Given the description of an element on the screen output the (x, y) to click on. 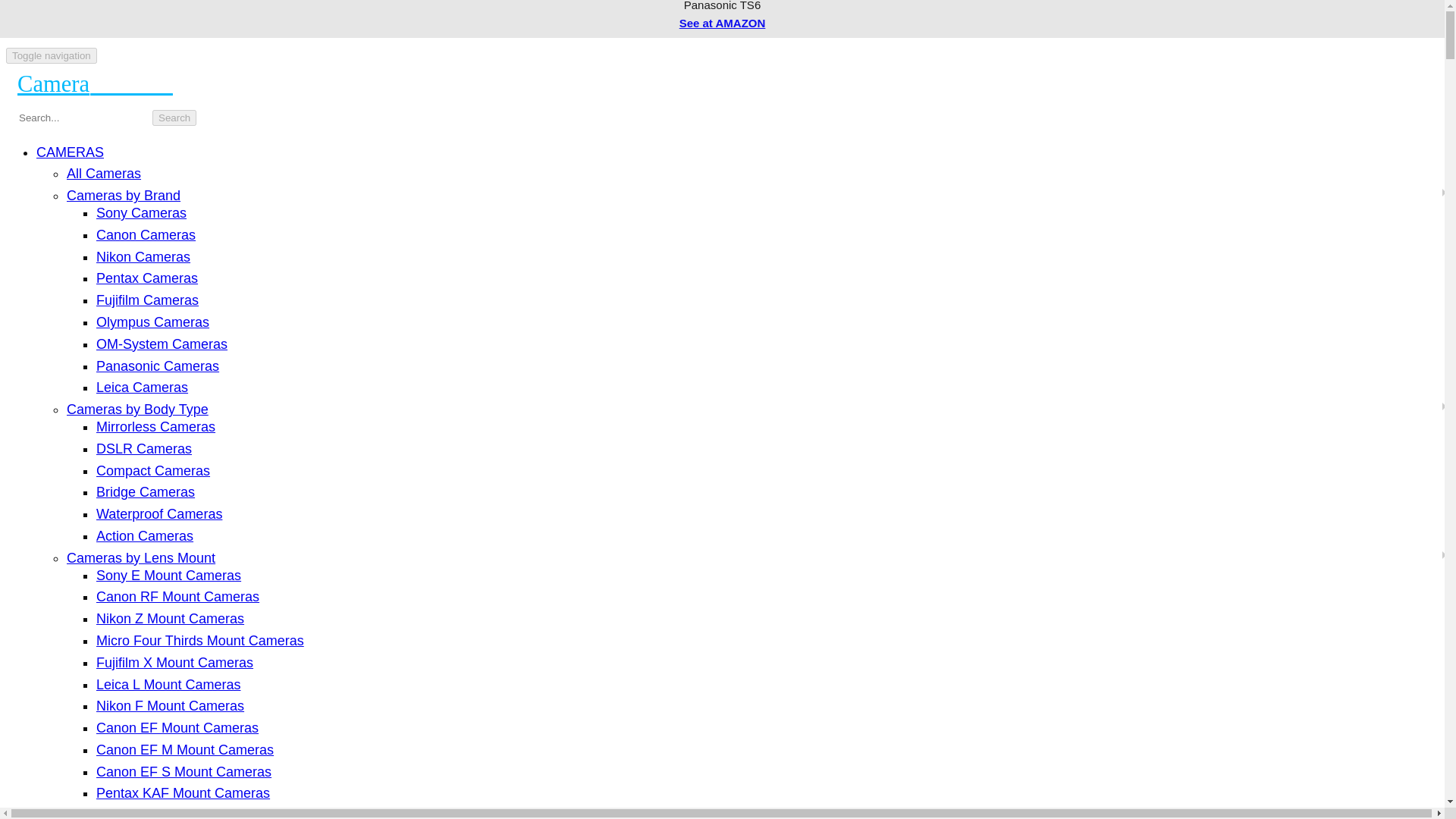
Waterproof Cameras (159, 513)
Canon EF M Mount Cameras (184, 749)
Bridge Cameras (145, 491)
Cameras by Brand (123, 195)
Sony Alpha Mount Cameras (181, 813)
Pentax Cameras (147, 278)
CameraDecision (100, 84)
Sony Cameras (141, 212)
Leica L Mount Cameras (168, 683)
Nikon Cameras (143, 256)
Pentax KAF Mount Cameras (182, 792)
Mirrorless Cameras (155, 426)
OM-System Cameras (161, 344)
Fujifilm X Mount Cameras (174, 662)
CAMERAS (69, 151)
